Given the description of an element on the screen output the (x, y) to click on. 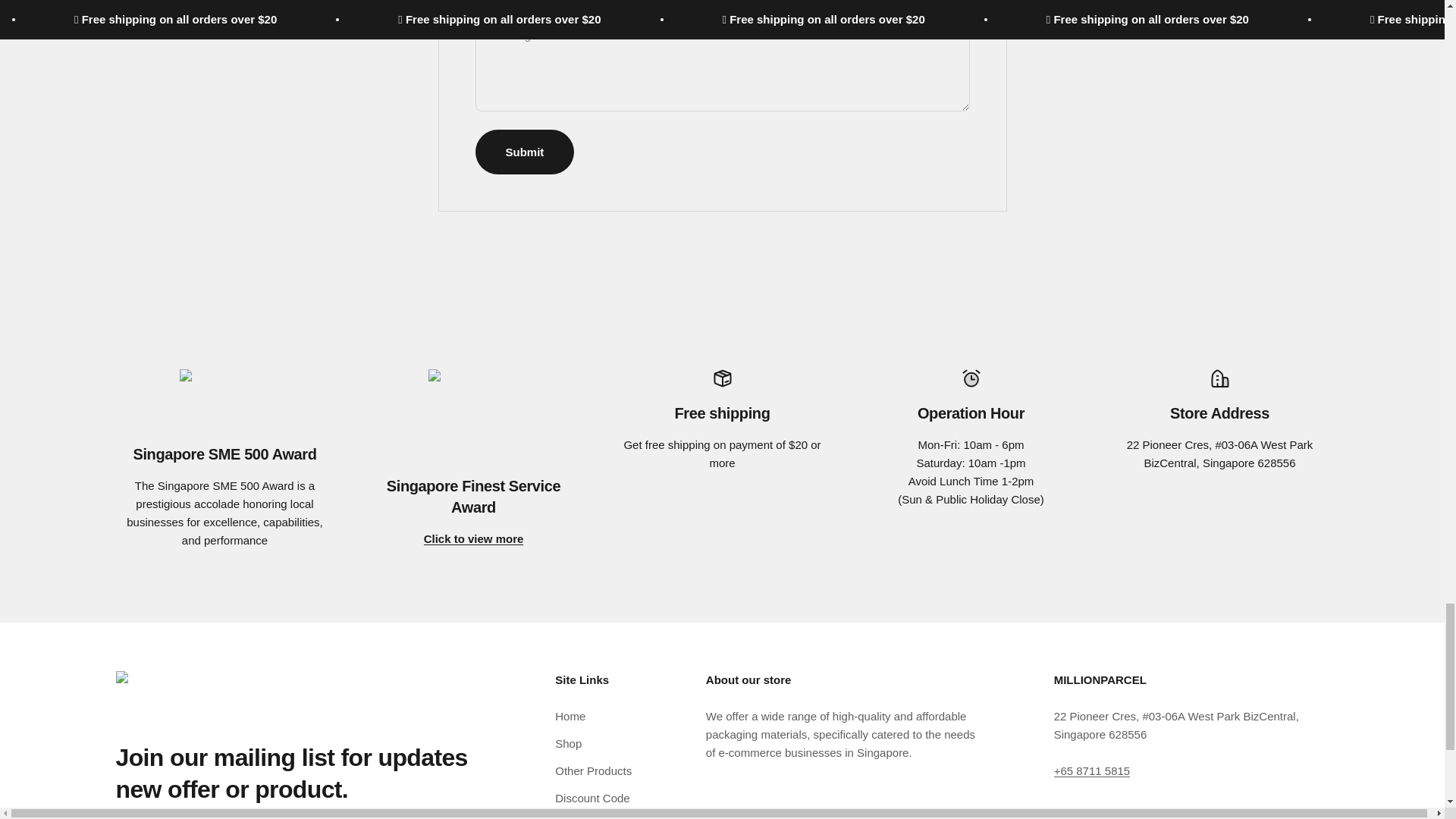
tel:8711 5815 (1092, 770)
